Given the description of an element on the screen output the (x, y) to click on. 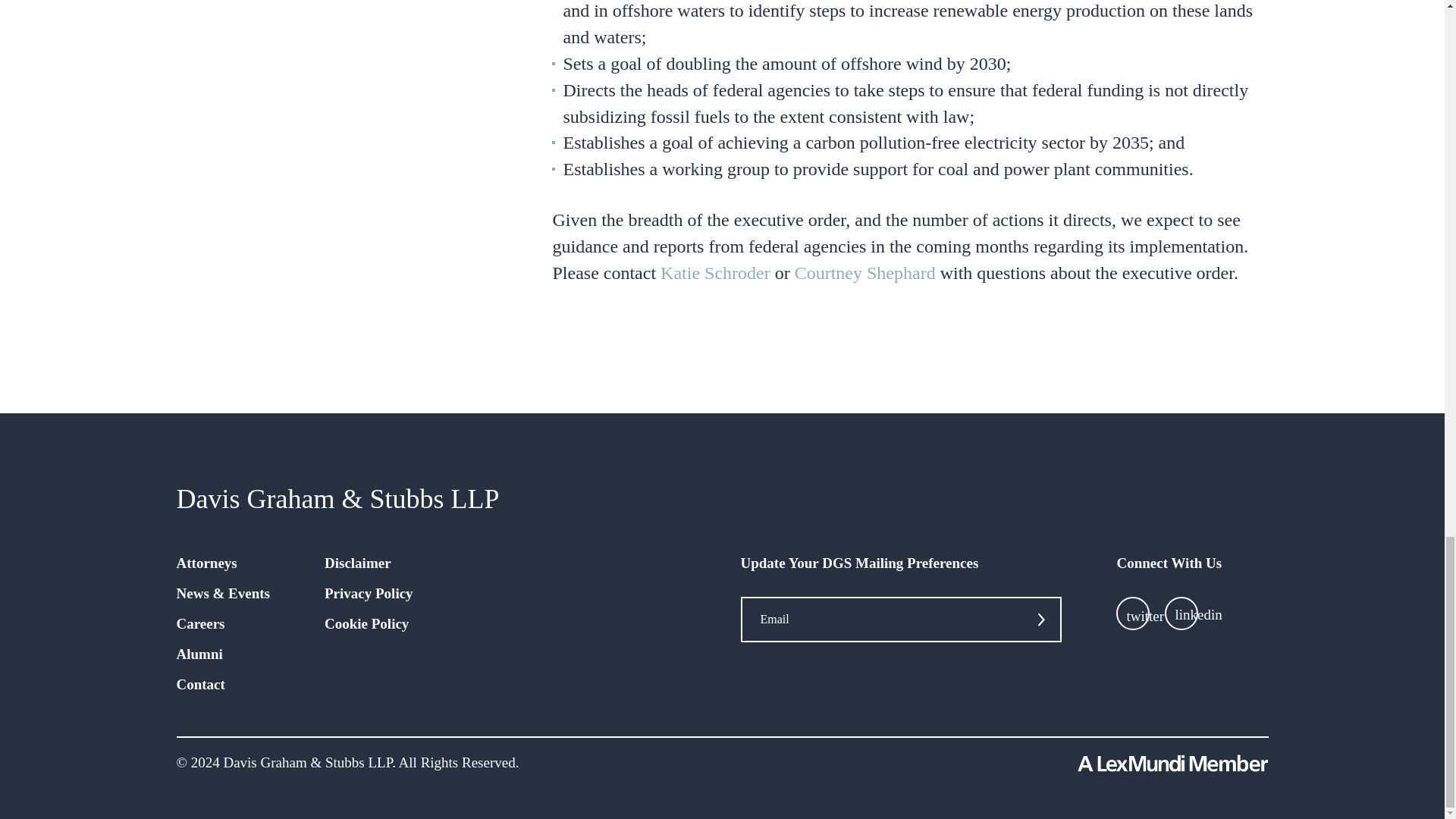
Attorneys (205, 562)
Katie Schroder (715, 272)
Alumni (199, 653)
Contact (200, 684)
Careers (200, 623)
Courtney Shephard (865, 272)
Disclaimer (357, 562)
